Given the description of an element on the screen output the (x, y) to click on. 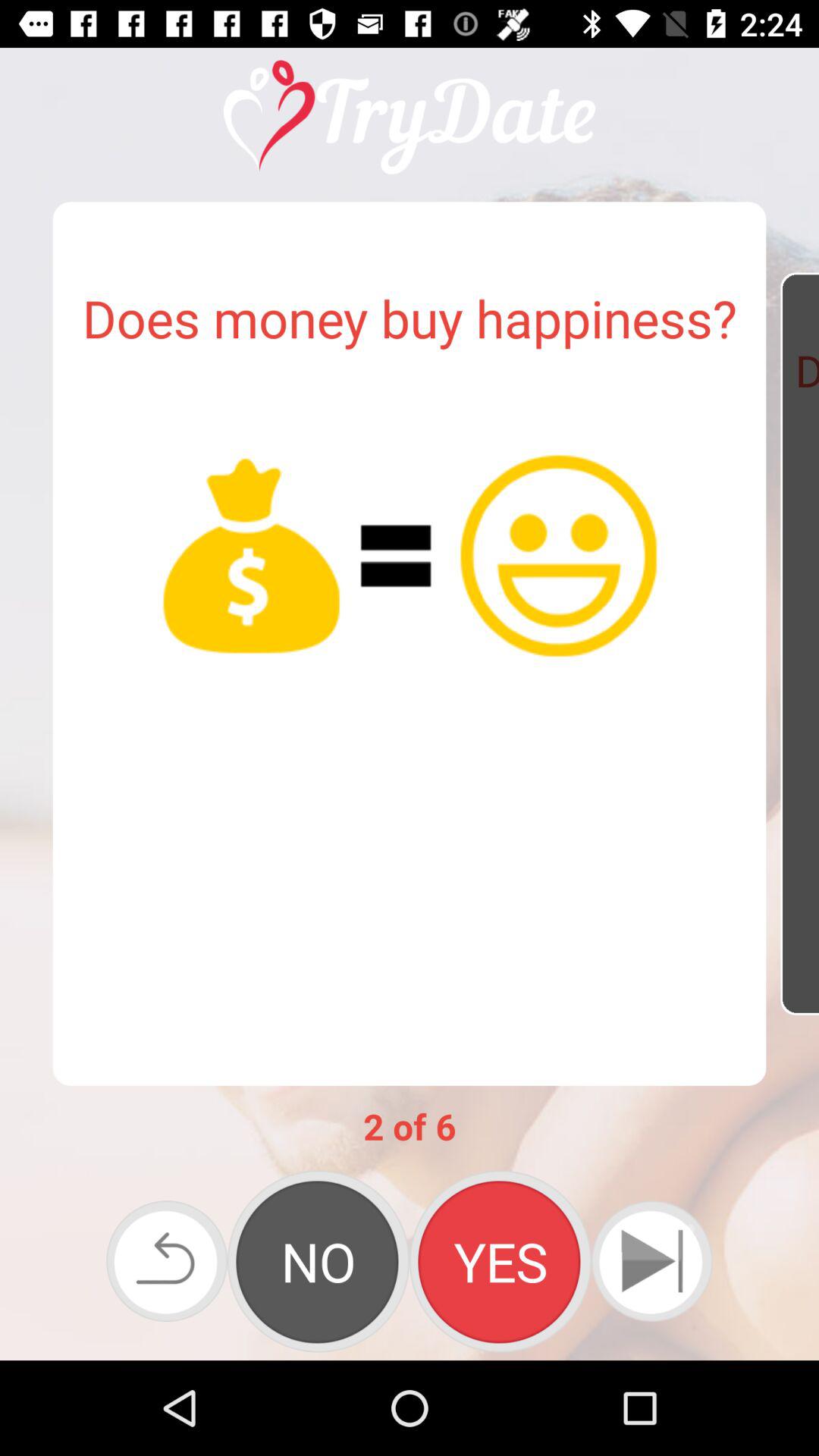
click play (651, 1260)
